Given the description of an element on the screen output the (x, y) to click on. 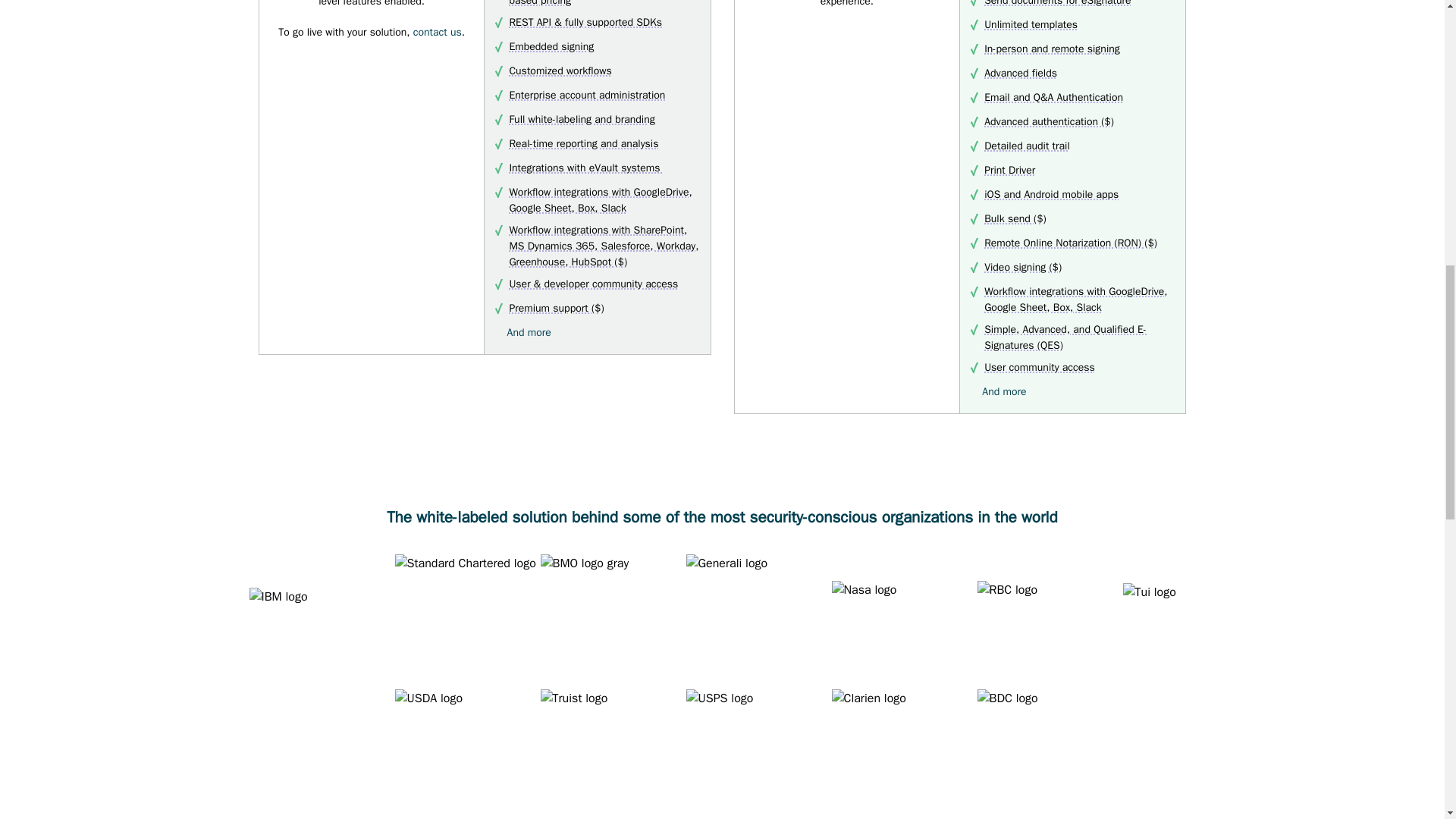
Contact our Sales Team (437, 31)
